Given the description of an element on the screen output the (x, y) to click on. 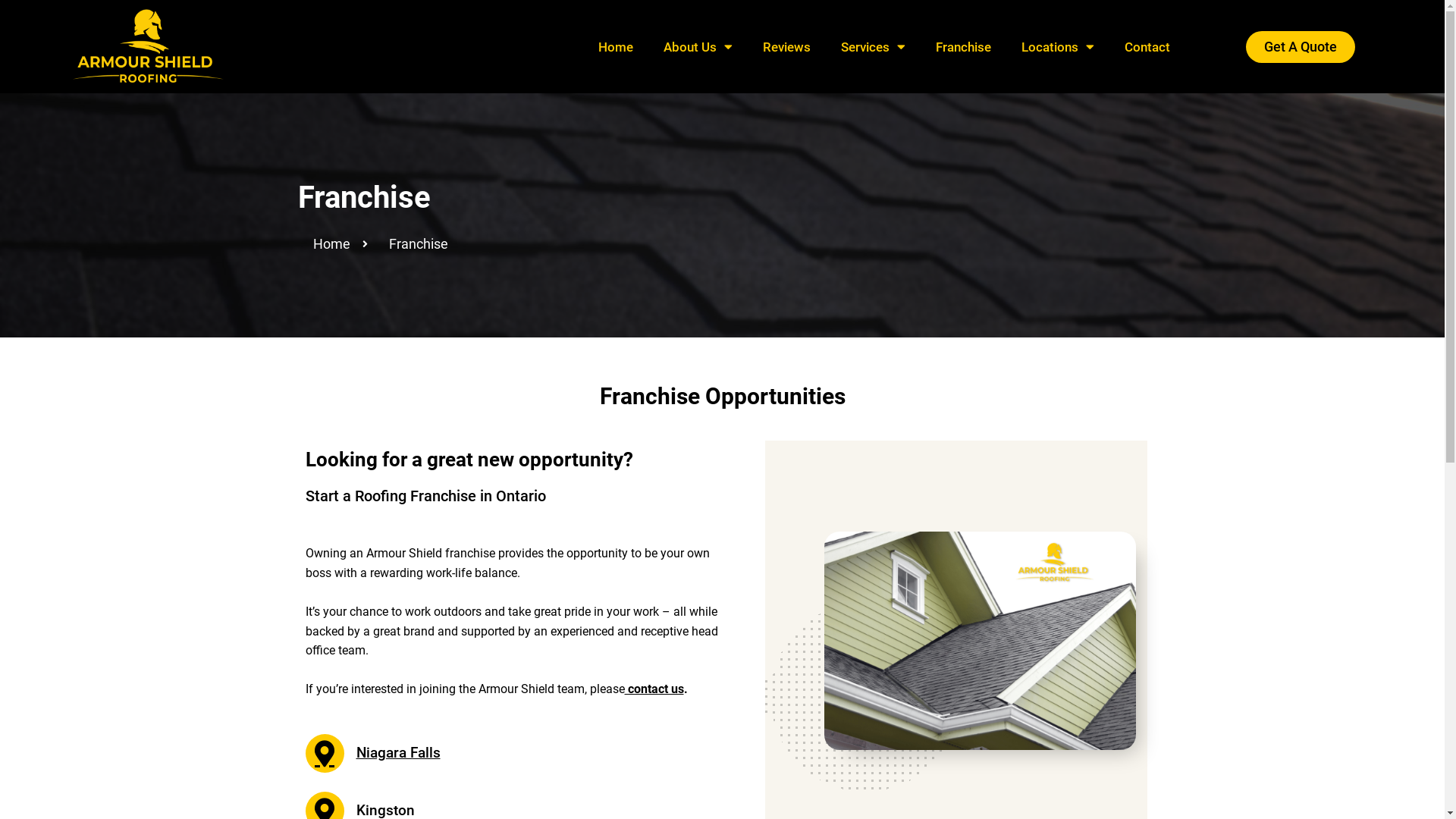
Niagara Falls Element type: text (371, 753)
contact us Element type: text (654, 688)
About Us Element type: text (697, 46)
Reviews Element type: text (786, 46)
Home Element type: text (330, 244)
Home Element type: text (615, 46)
Contact Element type: text (1147, 46)
Franchise Element type: text (963, 46)
Get A Quote Element type: text (1300, 46)
Services Element type: text (872, 46)
Locations Element type: text (1057, 46)
